Given the description of an element on the screen output the (x, y) to click on. 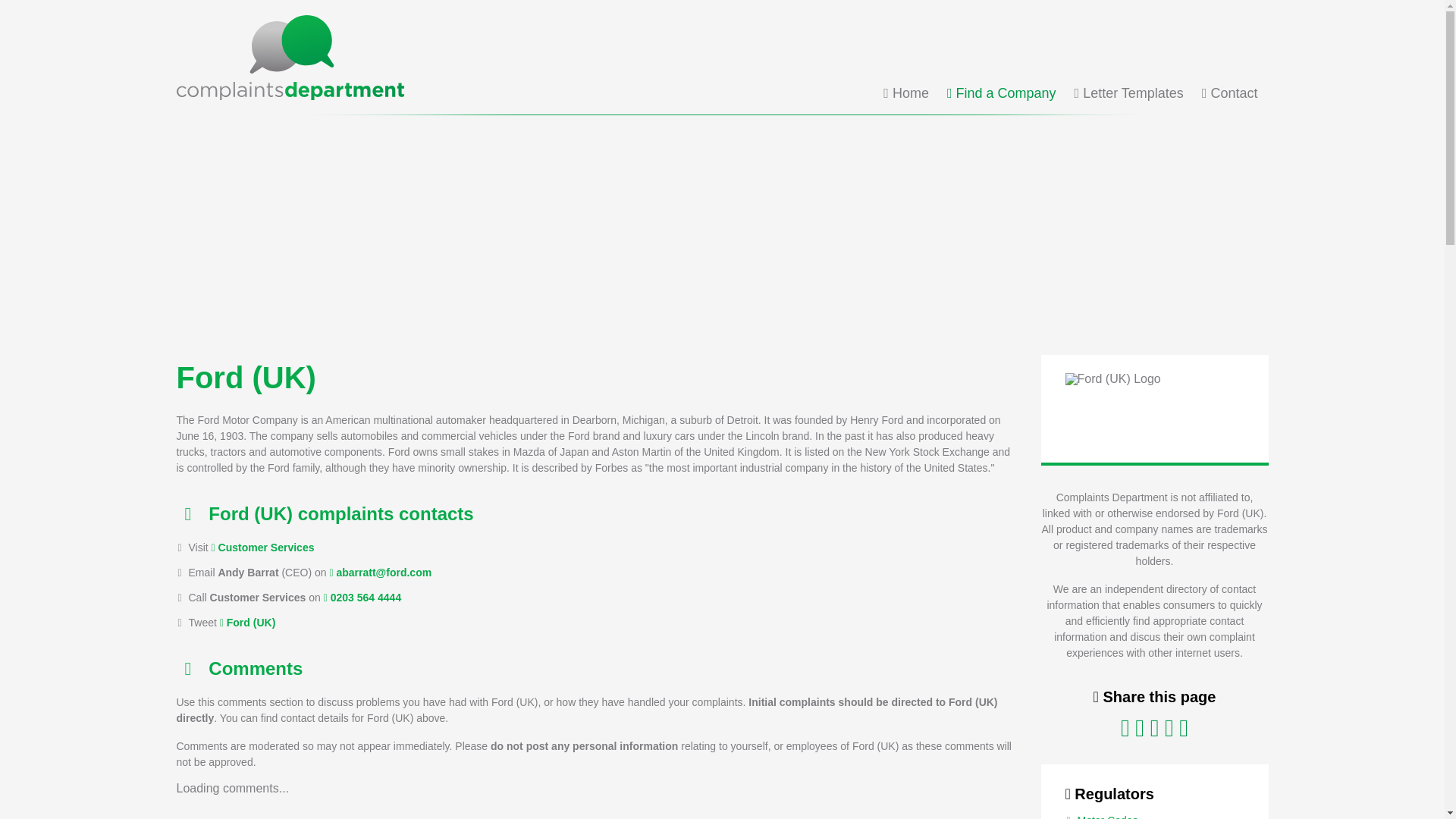
Motor Codes (1107, 816)
Home (905, 92)
Customer Services (262, 547)
0203 564 4444 (362, 597)
Find a Company (1002, 92)
forduk on twitter (247, 622)
Letter Templates (1128, 92)
Contact (1229, 92)
